Given the description of an element on the screen output the (x, y) to click on. 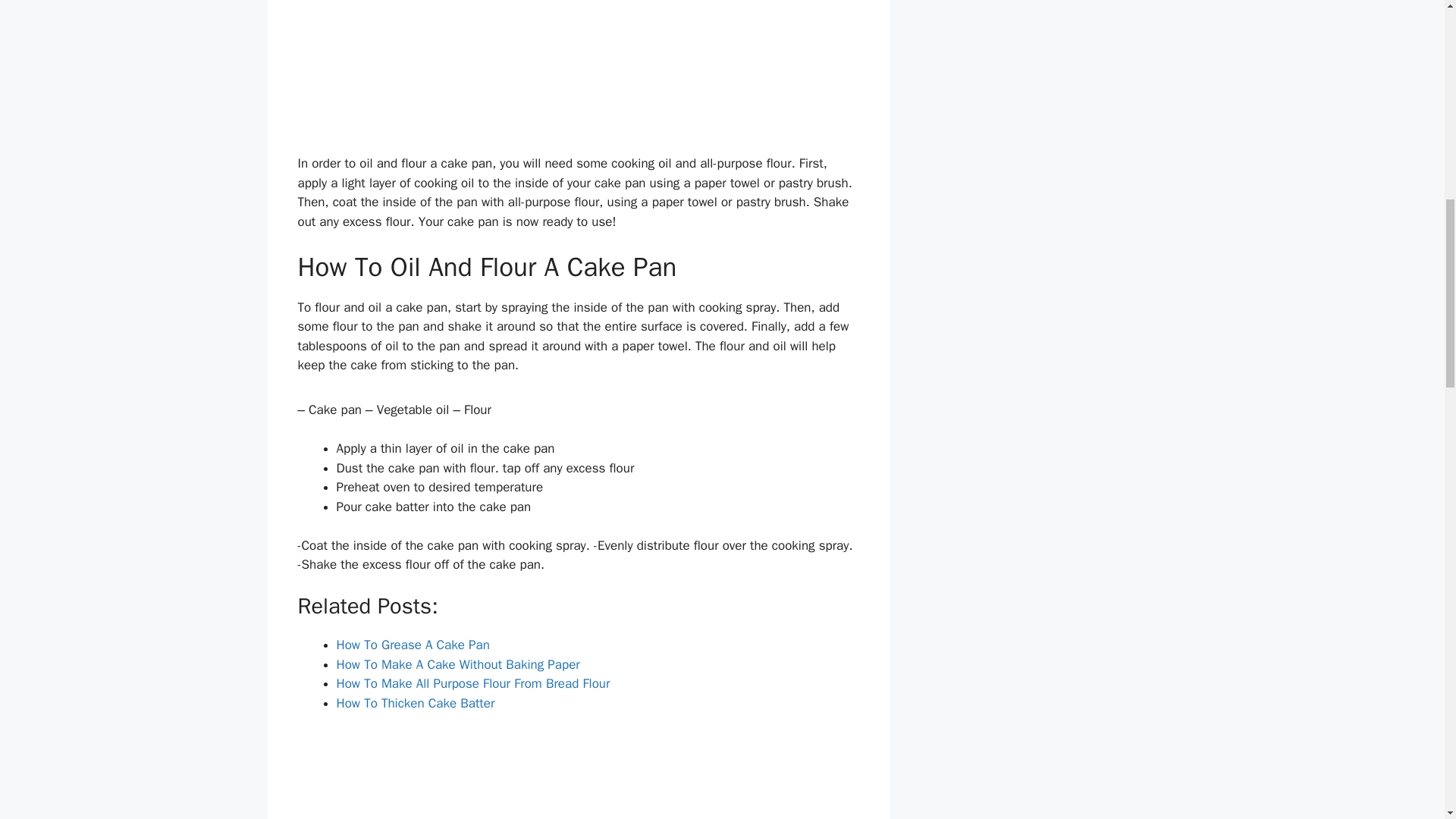
How To Make All Purpose Flour From Bread Flour (473, 683)
Advertisement (578, 74)
How To Make A Cake Without Baking Paper (457, 664)
How To Thicken Cake Batter (415, 703)
How To Grease A Cake Pan (412, 644)
